Given the description of an element on the screen output the (x, y) to click on. 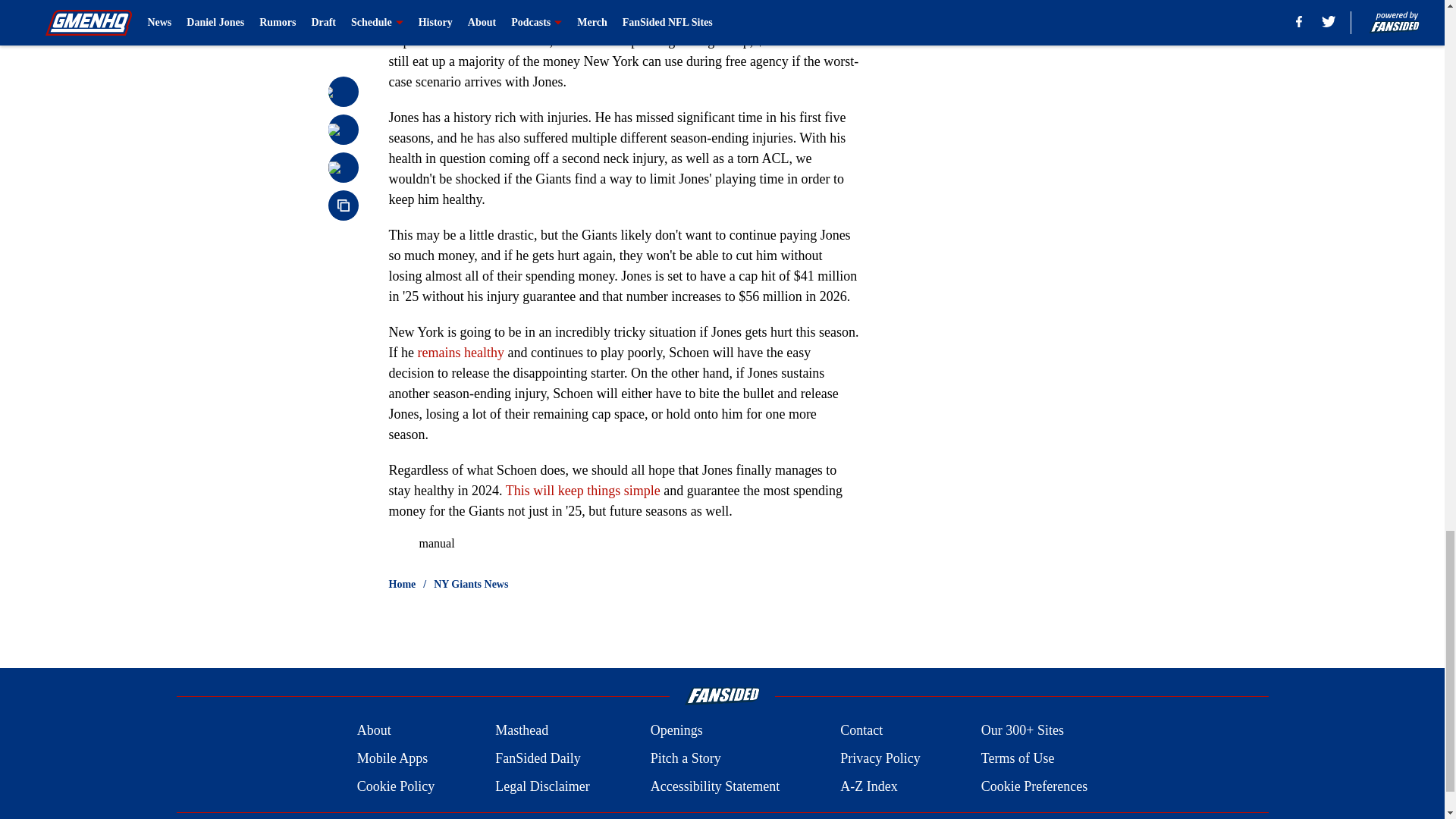
Privacy Policy (880, 758)
Openings (676, 730)
Legal Disclaimer (542, 786)
Pitch a Story (685, 758)
remains healthy (459, 352)
Terms of Use (1017, 758)
About (373, 730)
Mobile Apps (392, 758)
FanSided Daily (537, 758)
Contact (861, 730)
Cookie Policy (395, 786)
This will keep things simple (583, 490)
NY Giants News (470, 584)
Masthead (521, 730)
Home (401, 584)
